Given the description of an element on the screen output the (x, y) to click on. 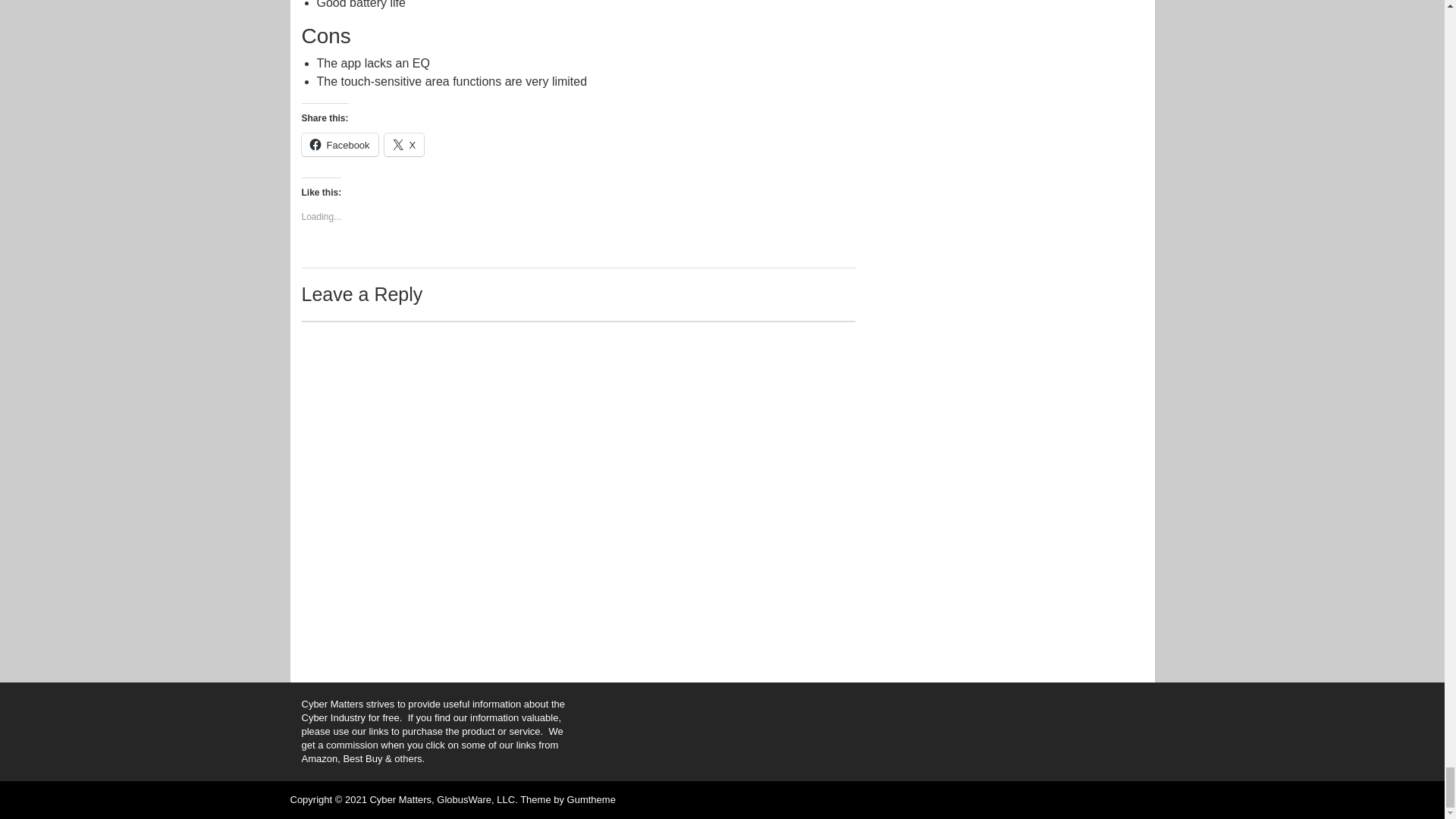
Click to share on Facebook (339, 144)
Facebook (339, 144)
X (404, 144)
Gumtheme (591, 799)
Shift-click to edit this widget. (434, 731)
Click to share on X (404, 144)
